Given the description of an element on the screen output the (x, y) to click on. 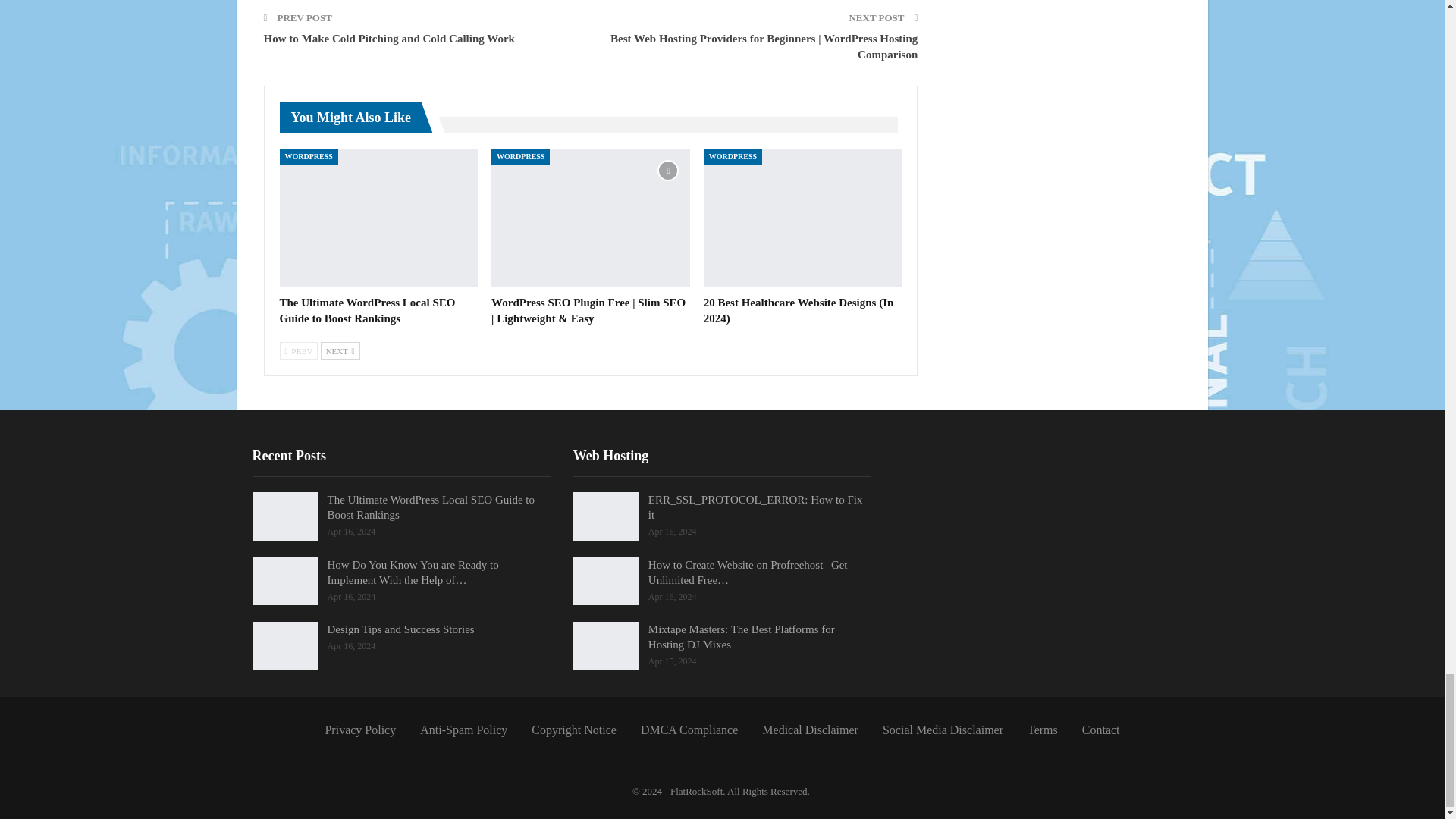
The Ultimate WordPress Local SEO Guide to Boost Rankings (366, 310)
The Ultimate WordPress Local SEO Guide to Boost Rankings (378, 217)
WORDPRESS (308, 156)
Next (339, 351)
Previous (298, 351)
How to Make Cold Pitching and Cold Calling Work (389, 38)
